Given the description of an element on the screen output the (x, y) to click on. 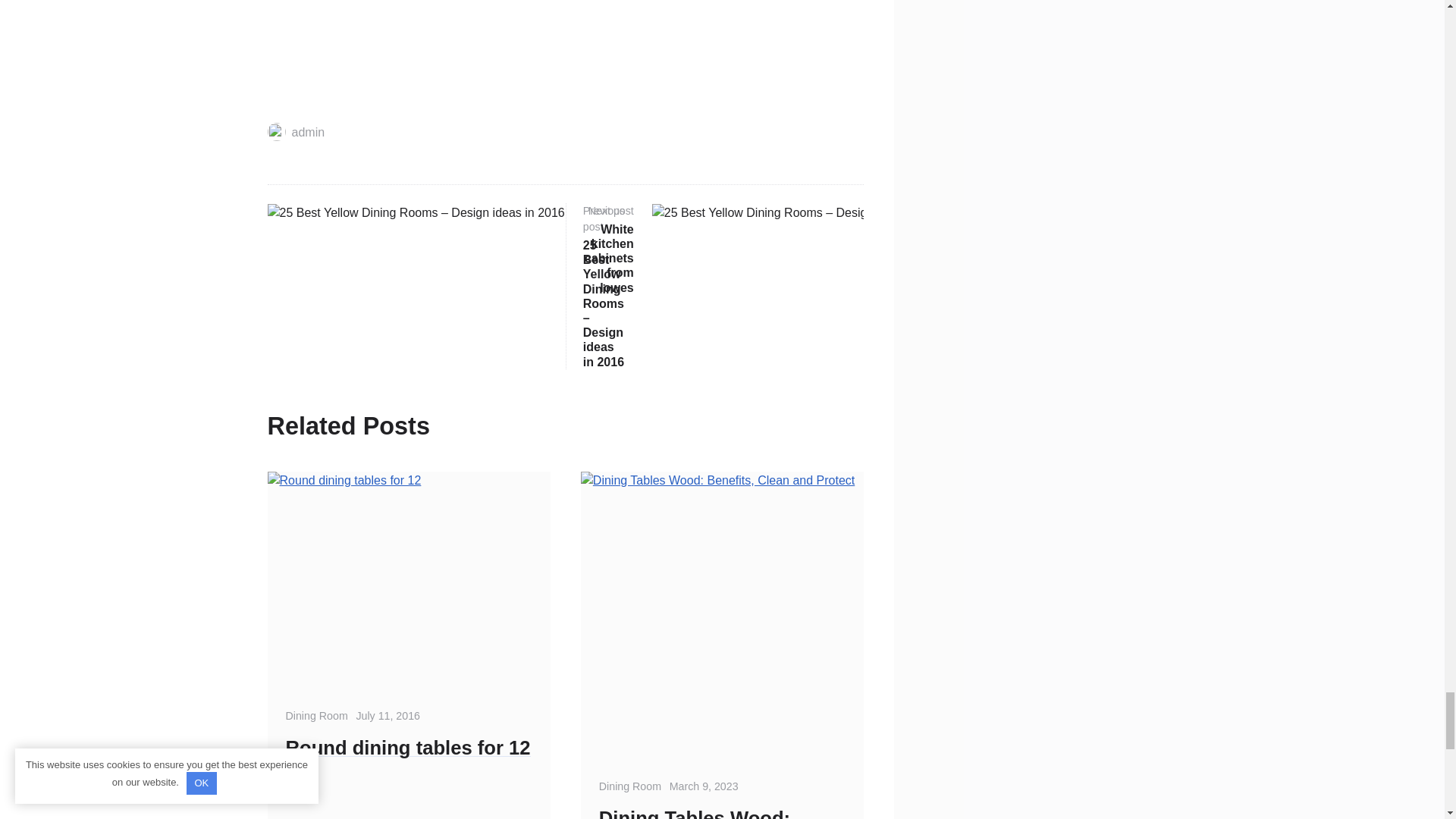
Round dining tables for 12 (408, 747)
July 11, 2016 (387, 715)
admin (295, 132)
Dining Room (724, 248)
